Given the description of an element on the screen output the (x, y) to click on. 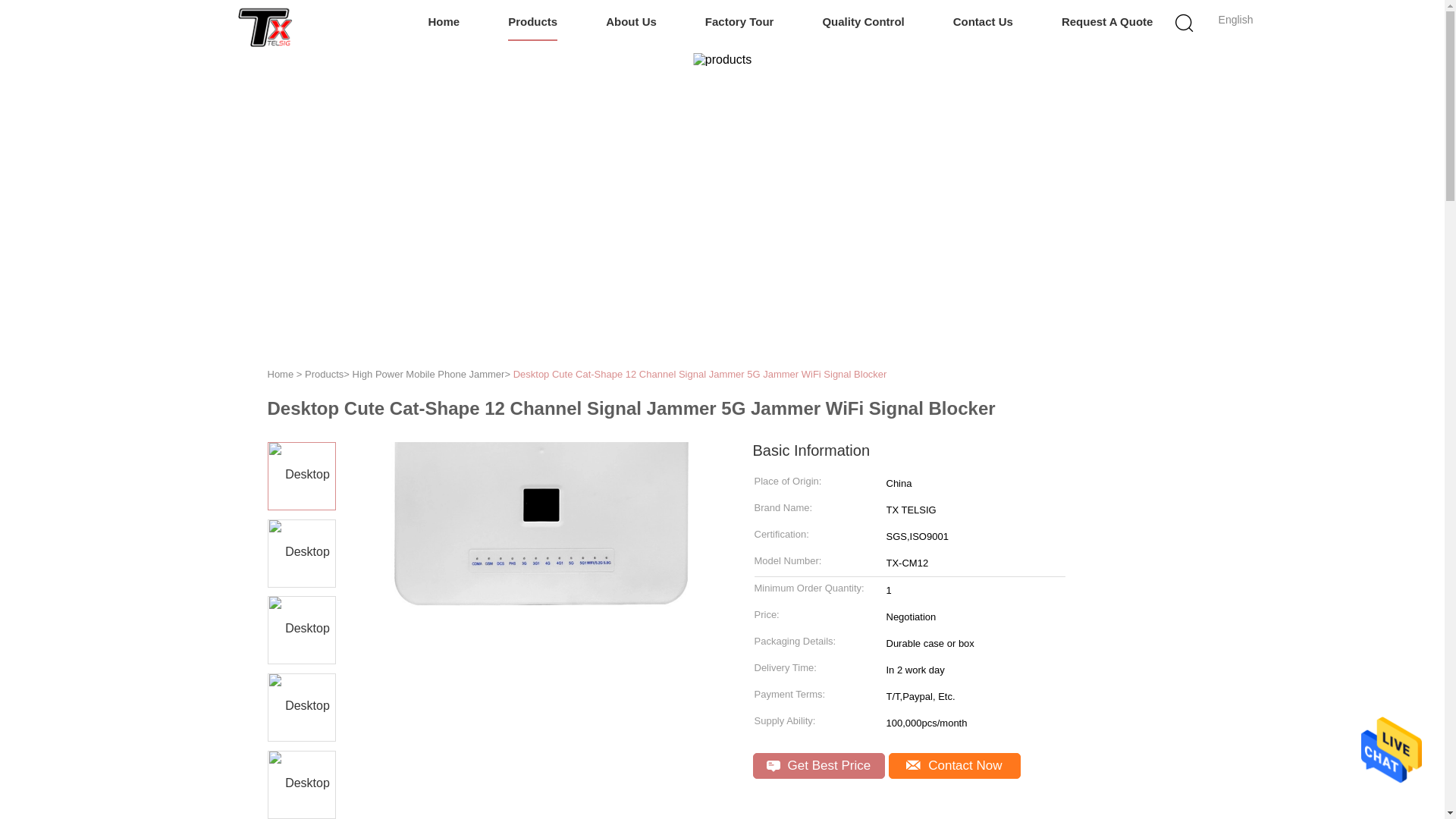
Factory Tour (739, 22)
Products (532, 22)
Shenzhen TeXin electronic Co., Limited (264, 25)
About Us (630, 22)
Search (1044, 100)
Quality Control (863, 22)
Contact Us (983, 22)
Request A Quote (1107, 22)
